Given the description of an element on the screen output the (x, y) to click on. 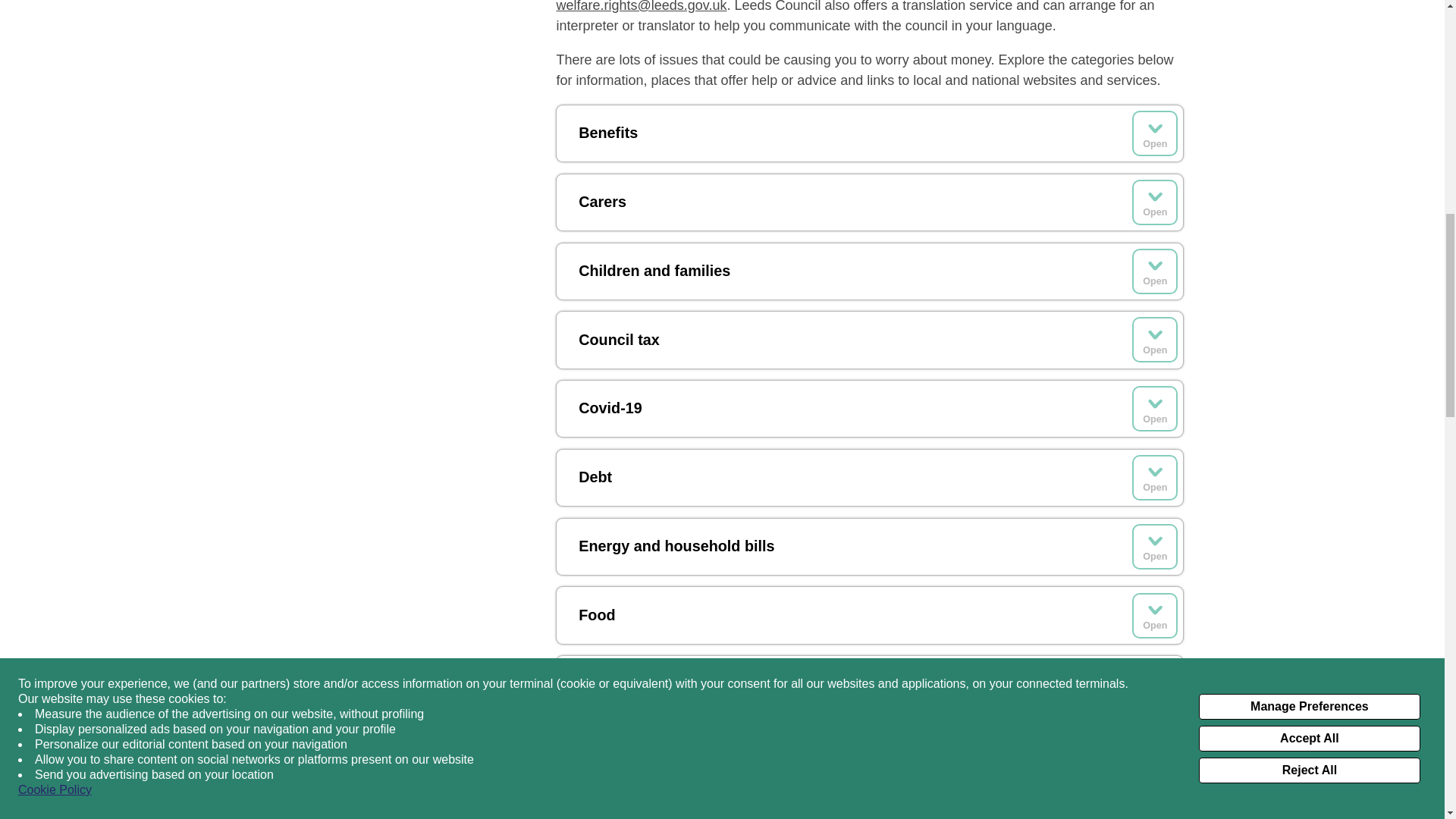
Open (1154, 133)
Open (1154, 202)
Open (1154, 271)
